Given the description of an element on the screen output the (x, y) to click on. 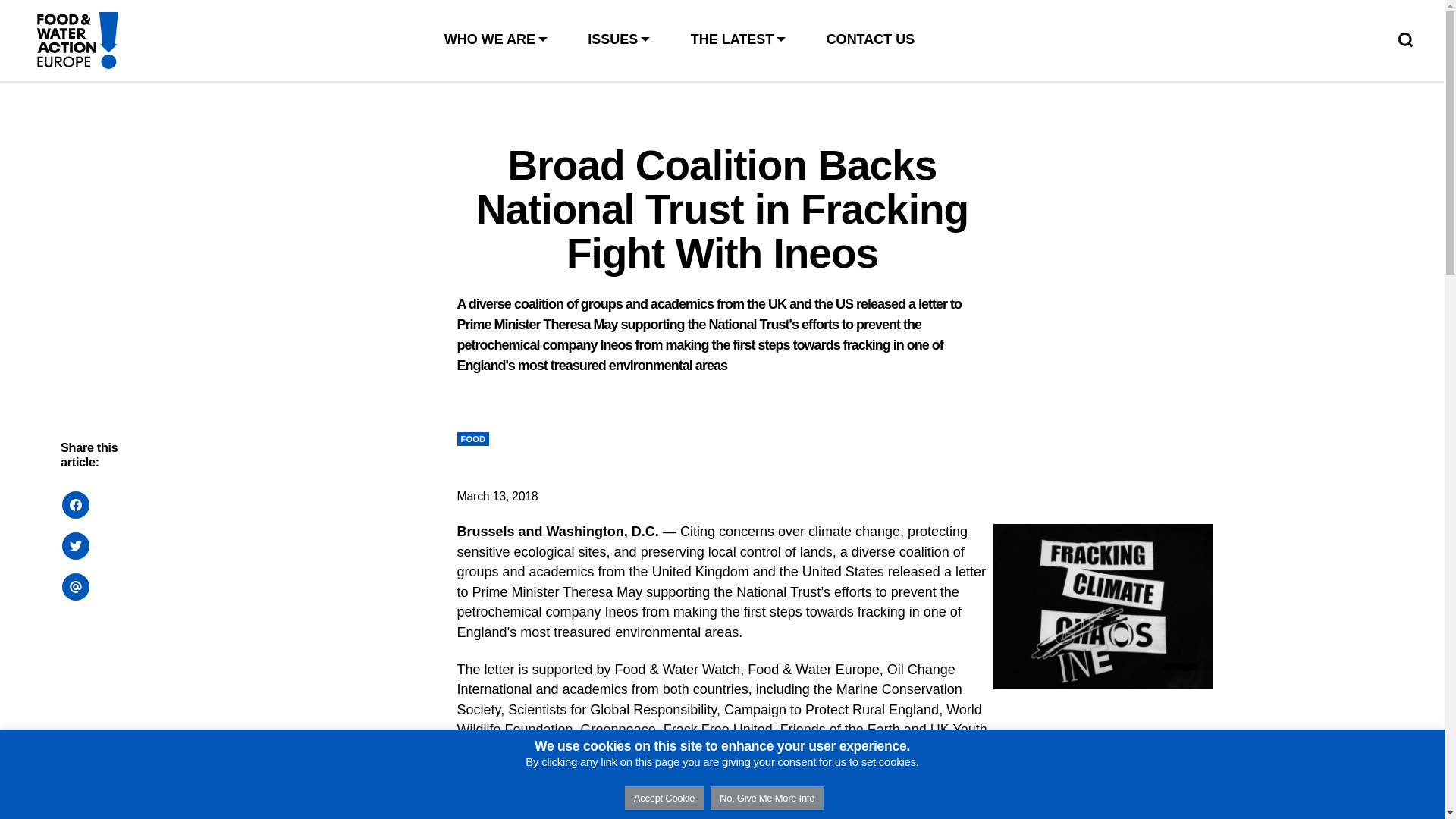
Who We Are (497, 39)
Issues (620, 39)
WHO WE ARE (497, 39)
ISSUES (620, 39)
CONTACT US (871, 39)
The Latest (739, 39)
THE LATEST (739, 39)
